Given the description of an element on the screen output the (x, y) to click on. 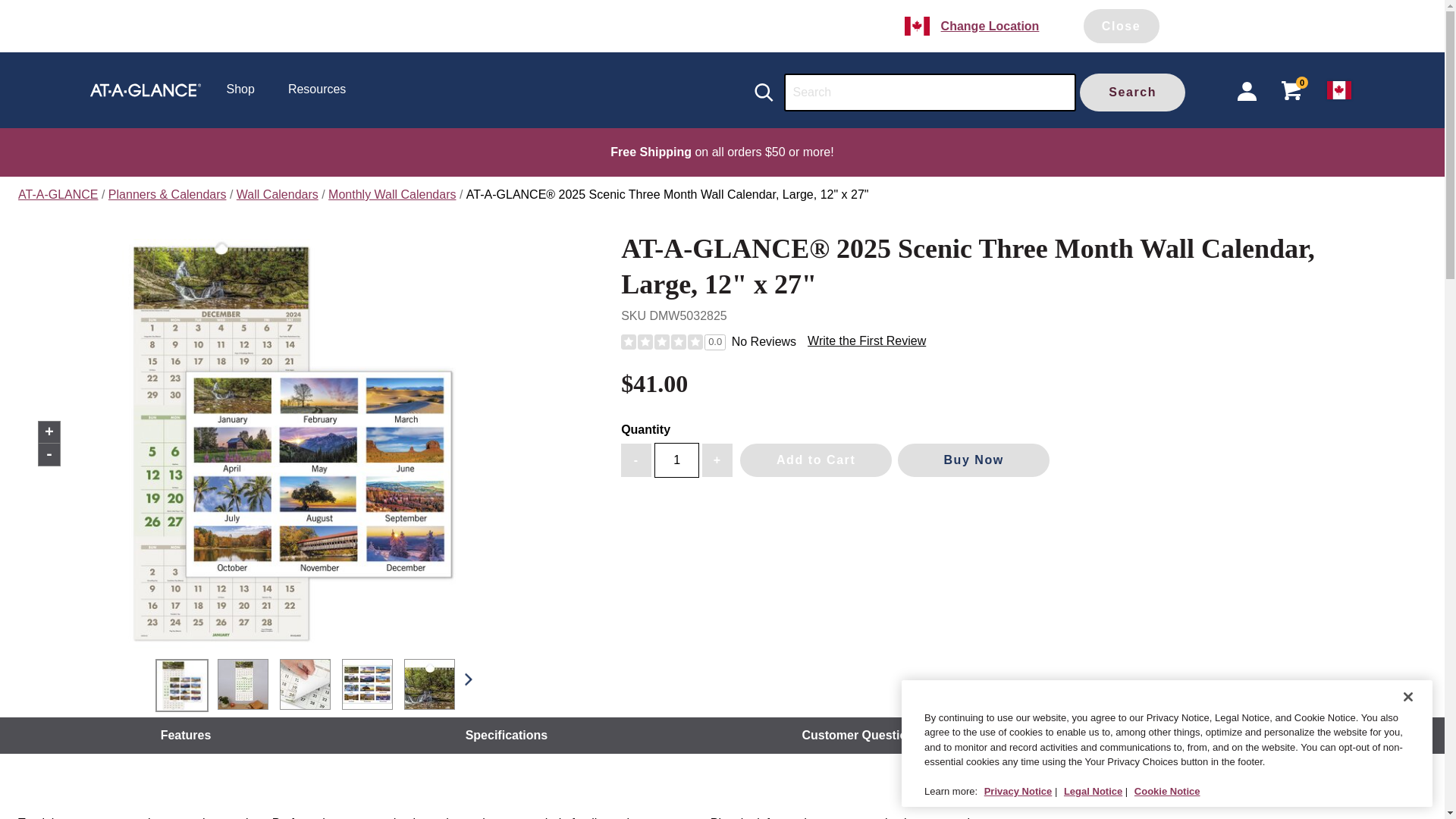
1 (676, 459)
Customer Questions (861, 735)
ACCOUNT (1246, 90)
Customer Reviews (1229, 735)
Features (185, 735)
Change Location (990, 26)
Close (1120, 26)
Specifications (506, 735)
Resources (317, 89)
